Given the description of an element on the screen output the (x, y) to click on. 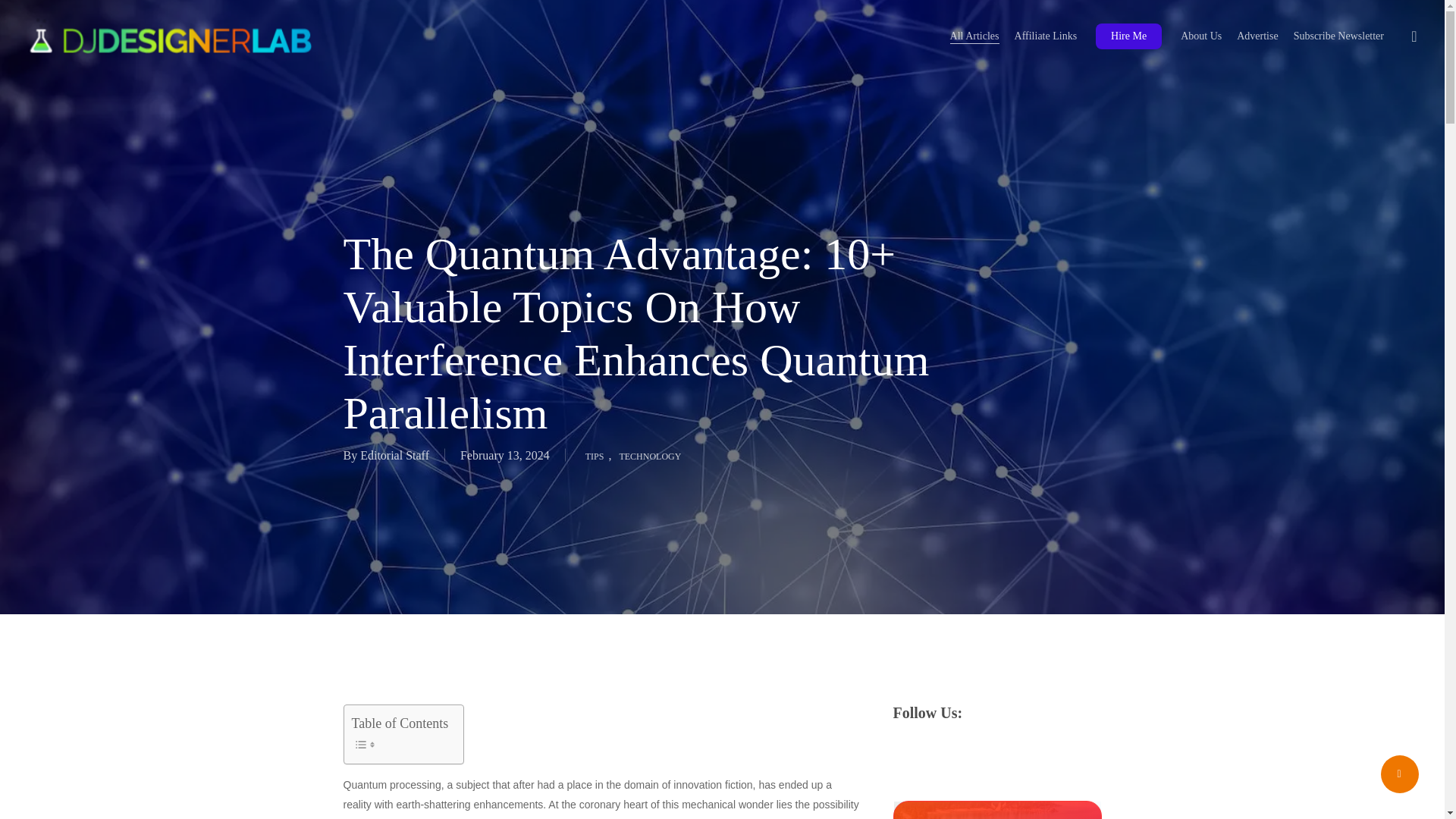
All Articles (974, 36)
Affiliate Links (1045, 36)
search (1414, 36)
Subscribe Newsletter (1339, 36)
TIPS (594, 455)
Editorial Staff (394, 454)
TECHNOLOGY (649, 455)
About Us (1200, 36)
Hire Me (1128, 36)
Posts by Editorial Staff (394, 454)
